Given the description of an element on the screen output the (x, y) to click on. 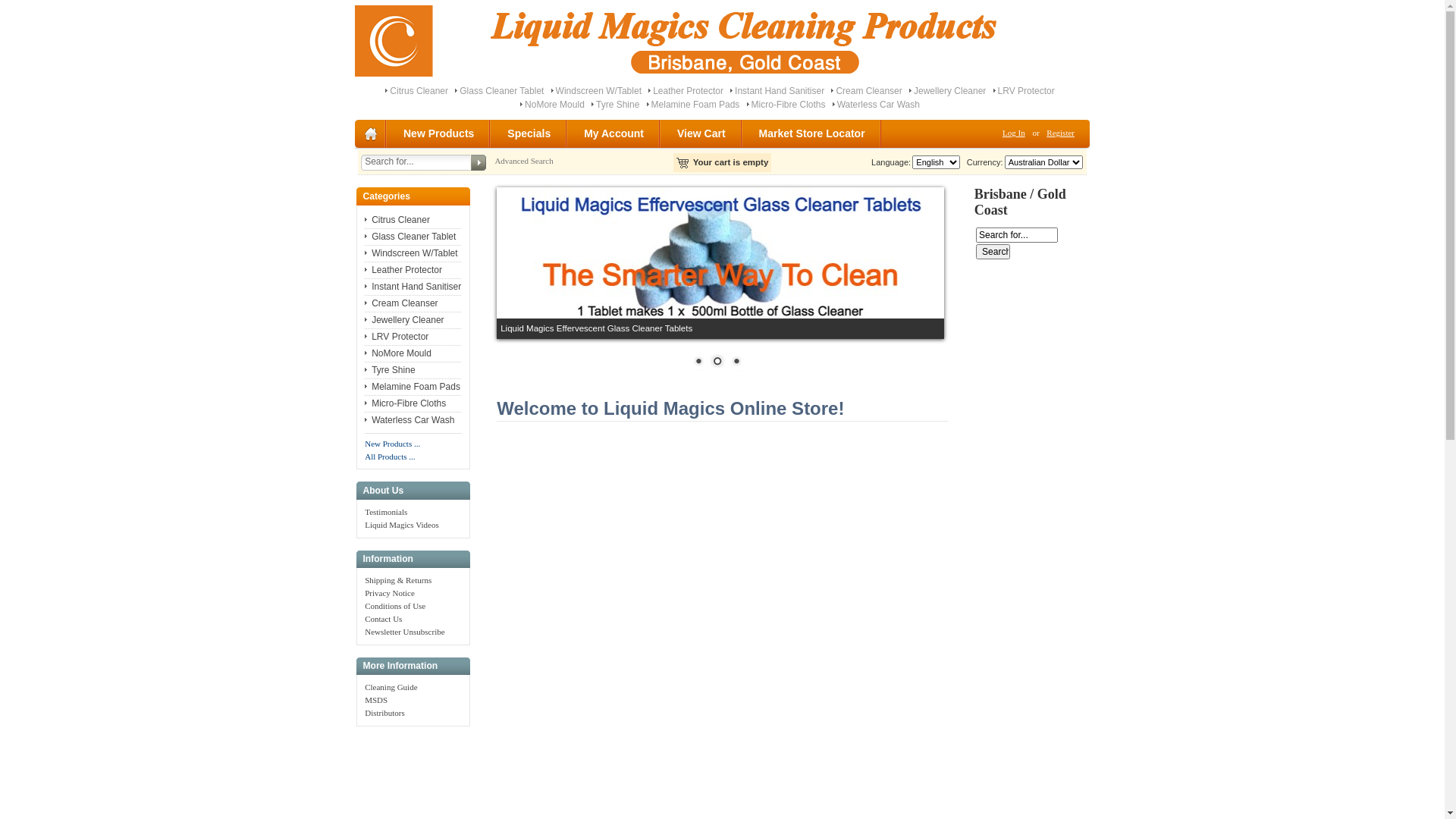
MSDS Element type: text (375, 699)
Instant Hand Sanitiser Element type: text (779, 90)
Search Element type: text (992, 251)
3 Element type: text (736, 362)
Citrus Cleaner Element type: text (396, 219)
View Cart Element type: text (701, 133)
Advanced Search Element type: text (523, 160)
Log In Element type: text (1013, 132)
Privacy Notice Element type: text (389, 592)
My Account Element type: text (614, 133)
Windscreen W/Tablet Element type: text (410, 252)
Liquid Magics Videos Element type: text (401, 524)
Windscreen W/Tablet Element type: text (598, 90)
Tyre Shine Element type: text (389, 369)
New Products ... Element type: text (392, 443)
Waterless Car Wash Element type: text (409, 419)
Micro-Fibre Cloths Element type: text (404, 403)
Cream Cleanser Element type: text (868, 90)
Jewellery Cleaner Element type: text (949, 90)
NoMore Mould Element type: text (397, 353)
LRV Protector Element type: text (396, 336)
NoMore Mould Element type: text (554, 104)
Tyre Shine Element type: text (617, 104)
Distributors Element type: text (384, 712)
Melamine Foam Pads Element type: text (695, 104)
Register Element type: text (1060, 132)
Testimonials Element type: text (385, 511)
Leather Protector Element type: text (403, 269)
Micro-Fibre Cloths Element type: text (788, 104)
Contact Us Element type: text (382, 618)
Waterless Car Wash Element type: text (878, 104)
Specials Element type: text (529, 133)
Citrus Cleaner Element type: text (418, 90)
Cream Cleanser Element type: text (400, 303)
Market Store Locator Element type: text (812, 133)
1 Element type: text (698, 362)
Conditions of Use Element type: text (394, 605)
All Products ... Element type: text (389, 456)
2 Element type: text (717, 362)
Melamine Foam Pads Element type: text (412, 386)
Glass Cleaner Tablet Element type: text (409, 236)
New Products Element type: text (439, 133)
Jewellery Cleaner Element type: text (403, 319)
Cleaning Guide Element type: text (390, 686)
Instant Hand Sanitiser Element type: text (412, 286)
LRV Protector Element type: text (1026, 90)
Leather Protector Element type: text (688, 90)
Newsletter Unsubscribe Element type: text (404, 631)
Shipping & Returns Element type: text (397, 579)
Glass Cleaner Tablet Element type: text (501, 90)
